Given the description of an element on the screen output the (x, y) to click on. 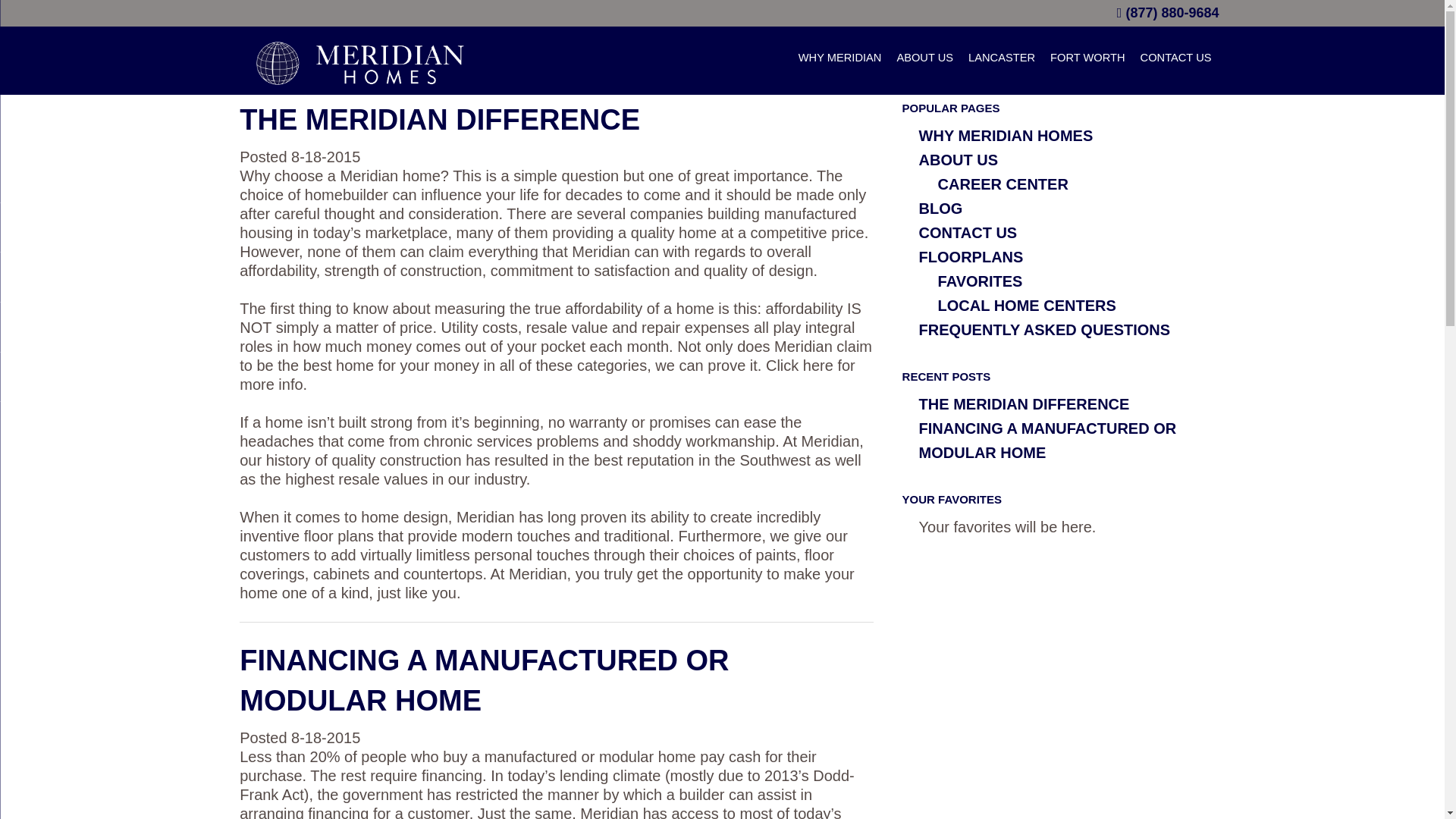
LANCASTER (1001, 60)
THE MERIDIAN DIFFERENCE (440, 119)
BLOG (940, 208)
WHY MERIDIAN HOMES (1005, 135)
ABOUT US (957, 159)
ABOUT US (924, 60)
FINANCING A MANUFACTURED OR MODULAR HOME (1047, 440)
FORT WORTH (1087, 60)
FINANCING A MANUFACTURED OR MODULAR HOME (484, 680)
FREQUENTLY ASKED QUESTIONS (1044, 329)
CONTACT US (967, 232)
WHY MERIDIAN (839, 60)
FLOORPLANS (970, 256)
FAVORITES (980, 280)
CONTACT US (1176, 60)
